Given the description of an element on the screen output the (x, y) to click on. 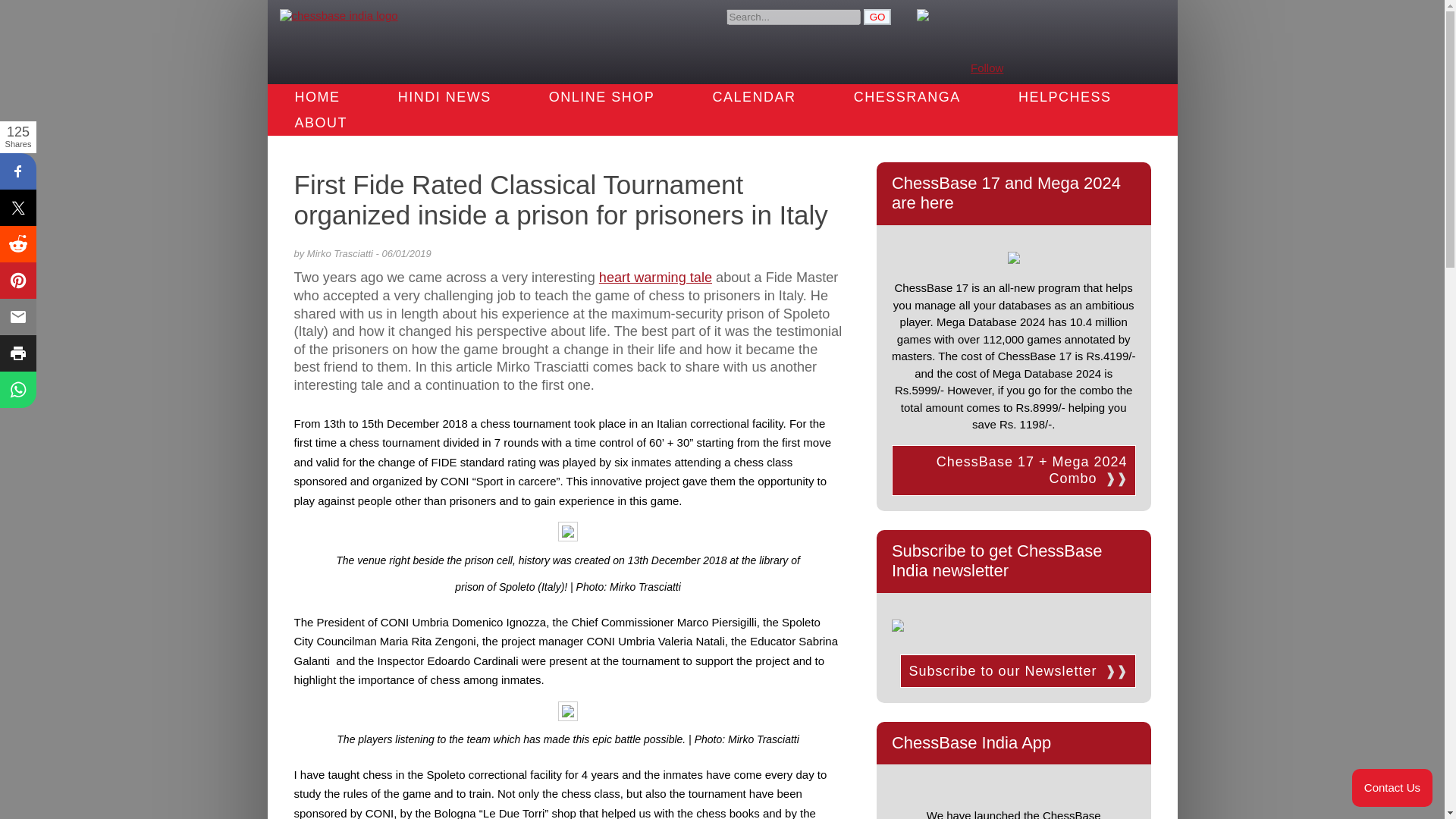
ONLINE SHOP (601, 96)
HINDI NEWS (444, 96)
Follow (987, 67)
CALENDAR (754, 96)
GO (877, 17)
GO (877, 17)
Subscribe to our Newsletter (1017, 671)
Contact Us (1392, 787)
ABOUT (320, 122)
heart warming tale (654, 277)
CHESSRANGA (907, 96)
HOME (316, 96)
HELPCHESS (1064, 96)
